Given the description of an element on the screen output the (x, y) to click on. 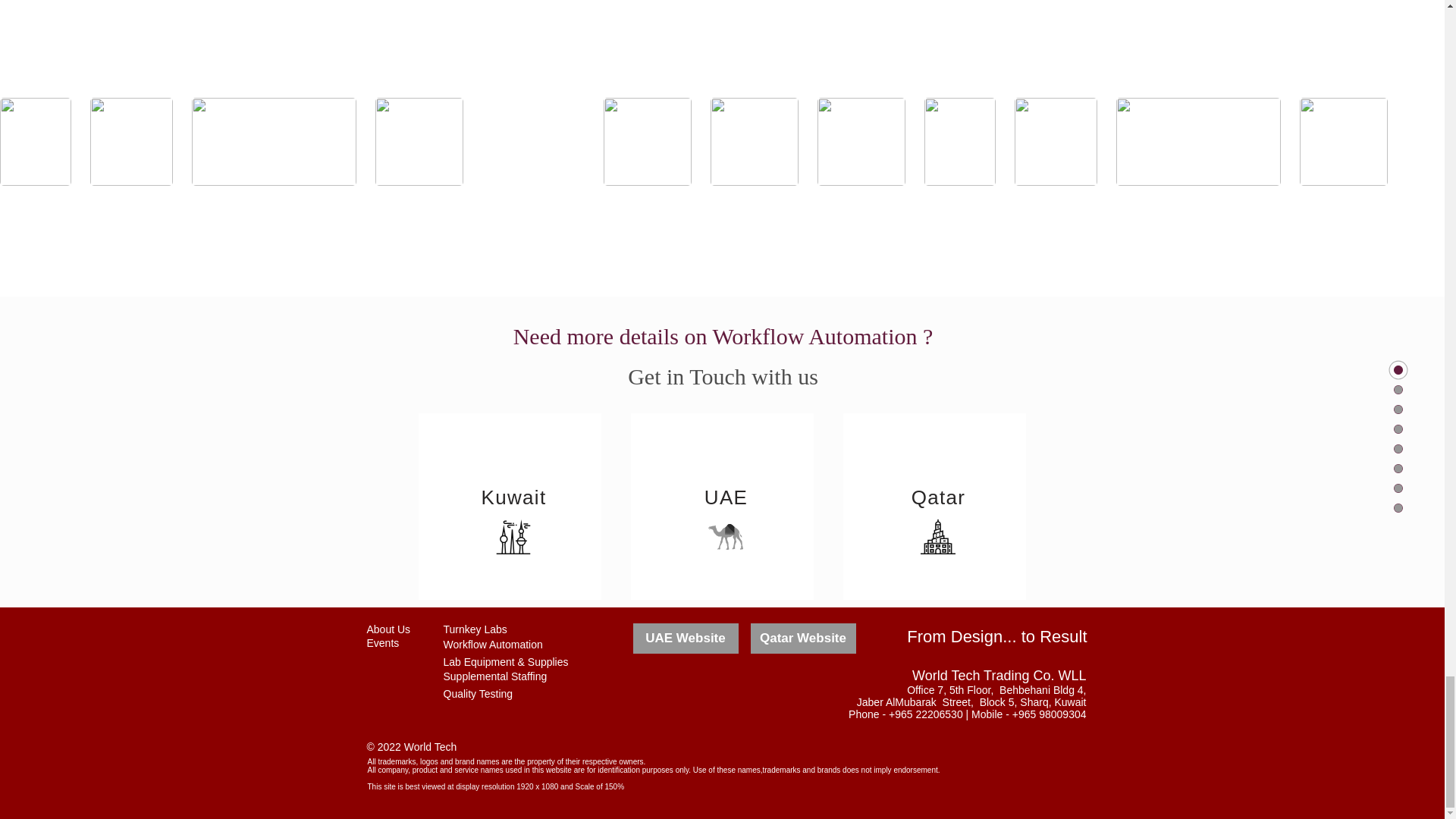
Qatar Website (803, 638)
Turnkey Labs (474, 629)
About Us (388, 629)
Quality Testing (477, 693)
UAE Website (684, 638)
Workflow Automation (491, 644)
Events (382, 643)
Supplemental Staffing (494, 676)
